Given the description of an element on the screen output the (x, y) to click on. 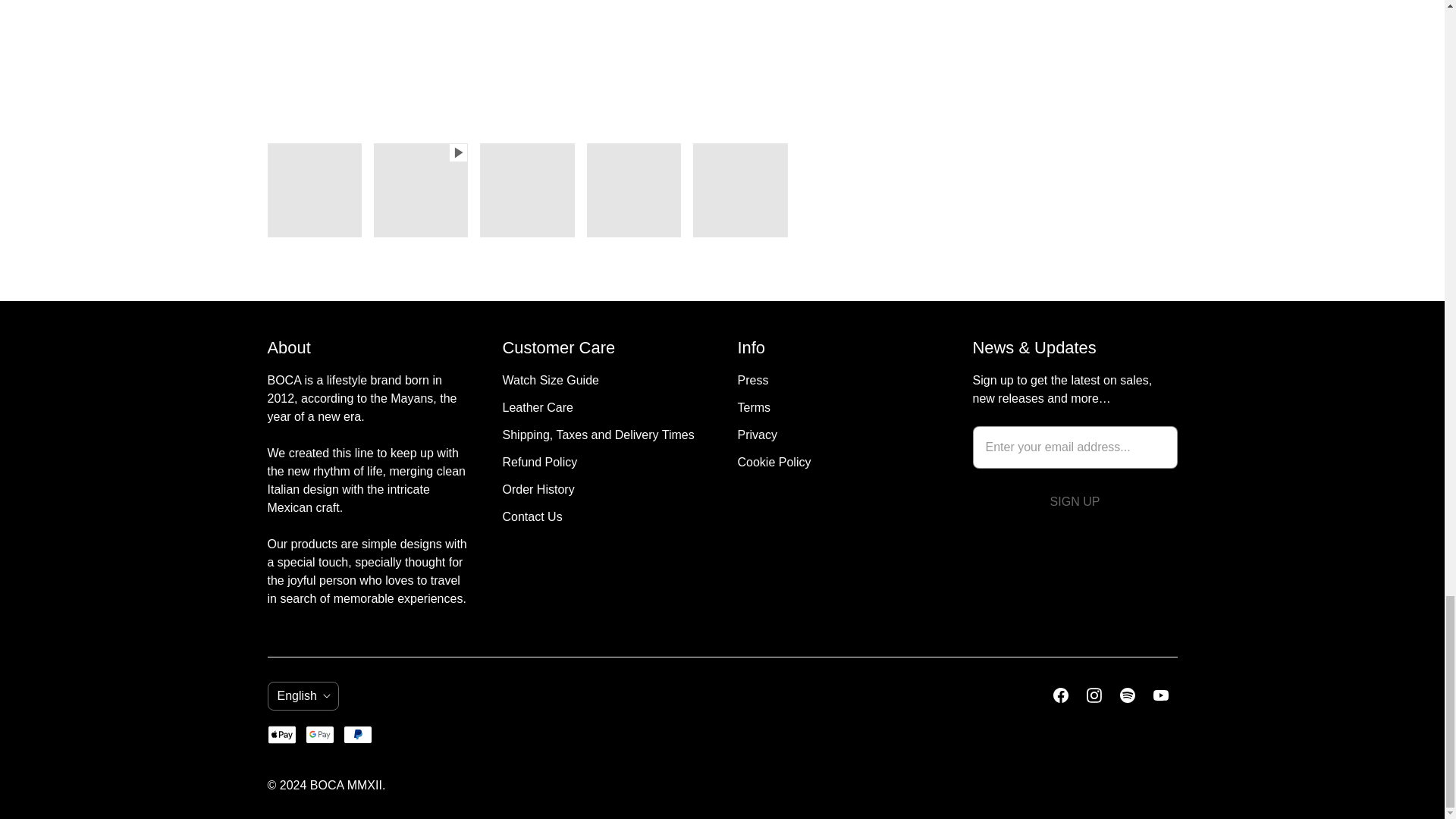
Sign Up (1074, 502)
Google Pay (319, 734)
Apple Pay (280, 734)
PayPal (357, 734)
